Given the description of an element on the screen output the (x, y) to click on. 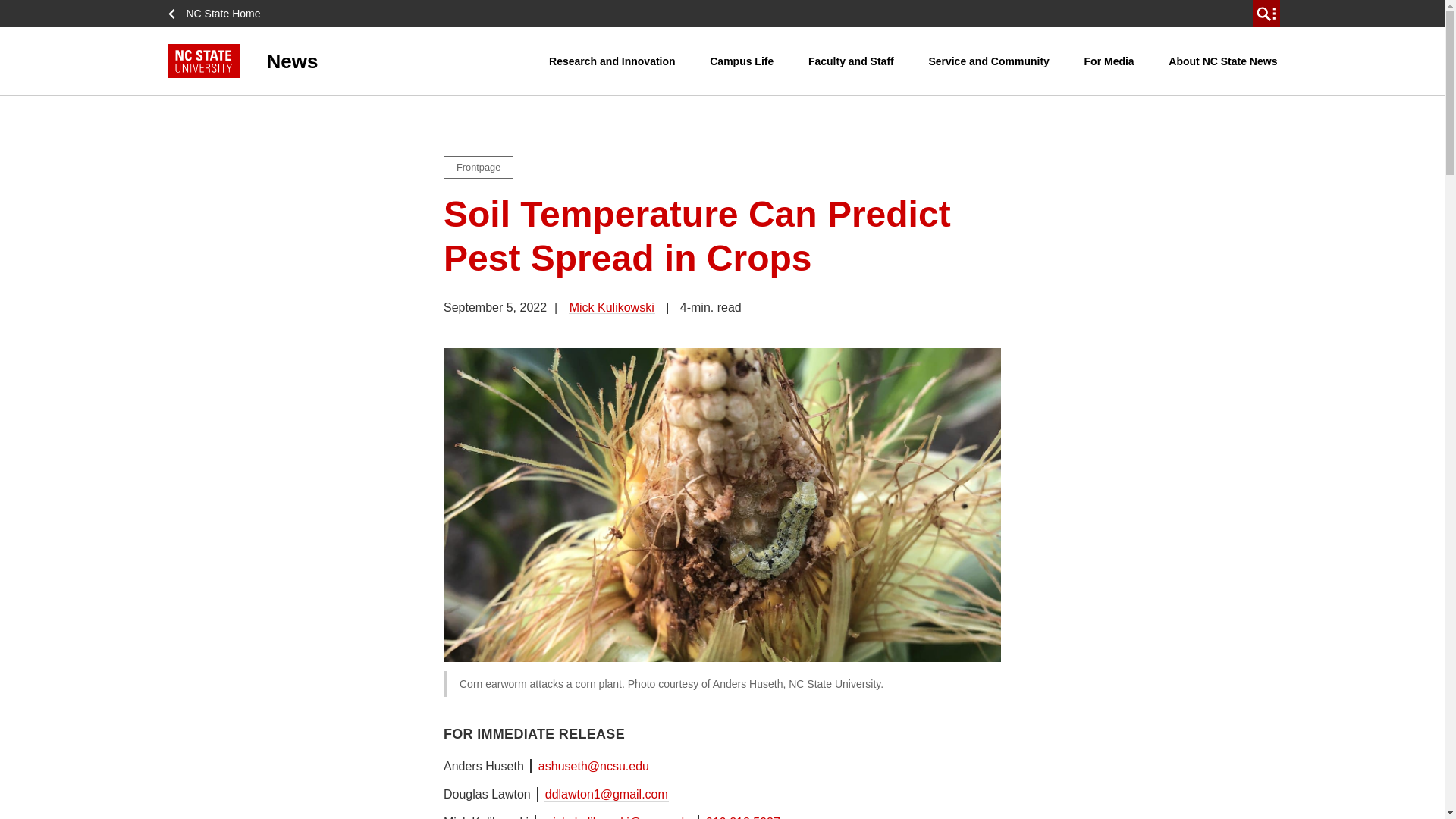
Research and Innovation (611, 61)
Campus Life (741, 61)
Posts by Mick Kulikowski (612, 307)
NC State Home (217, 13)
Service and Community (989, 61)
News (357, 61)
Faculty and Staff (851, 61)
